Given the description of an element on the screen output the (x, y) to click on. 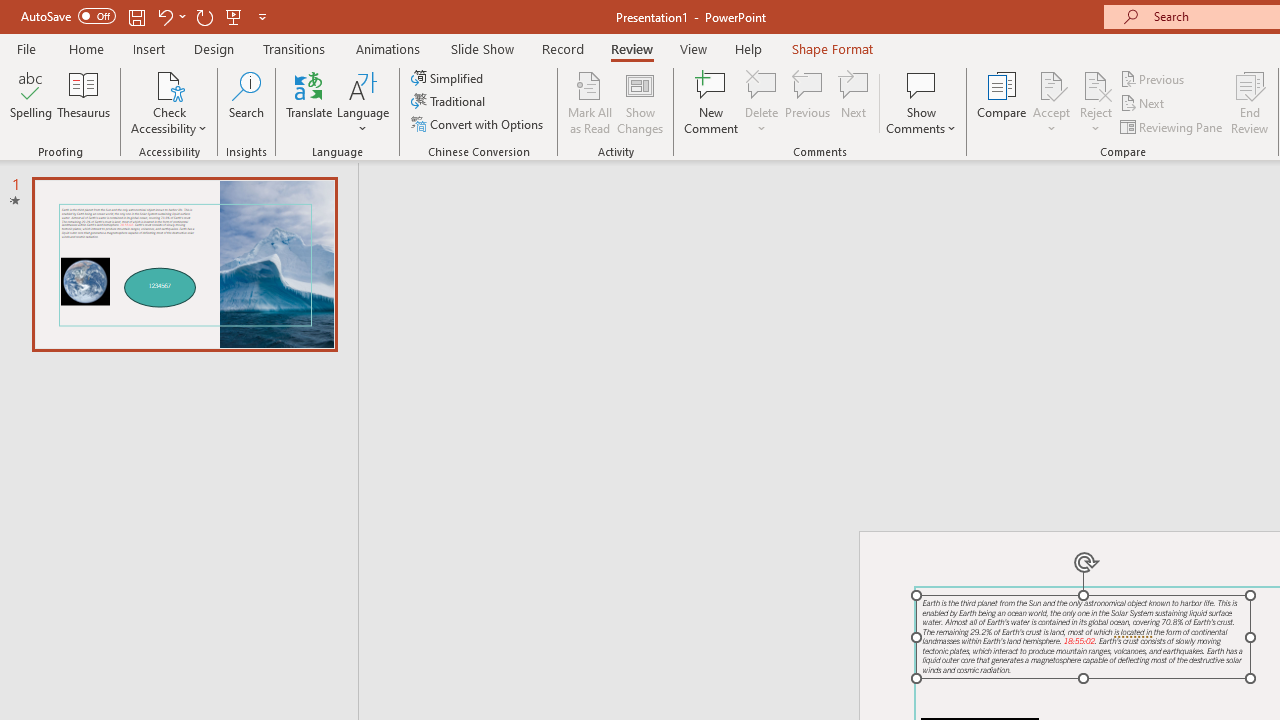
Show Comments (921, 84)
Accept Change (1051, 84)
Reject (1096, 102)
Language (363, 102)
Traditional (449, 101)
Delete (762, 84)
Accept (1051, 102)
